Given the description of an element on the screen output the (x, y) to click on. 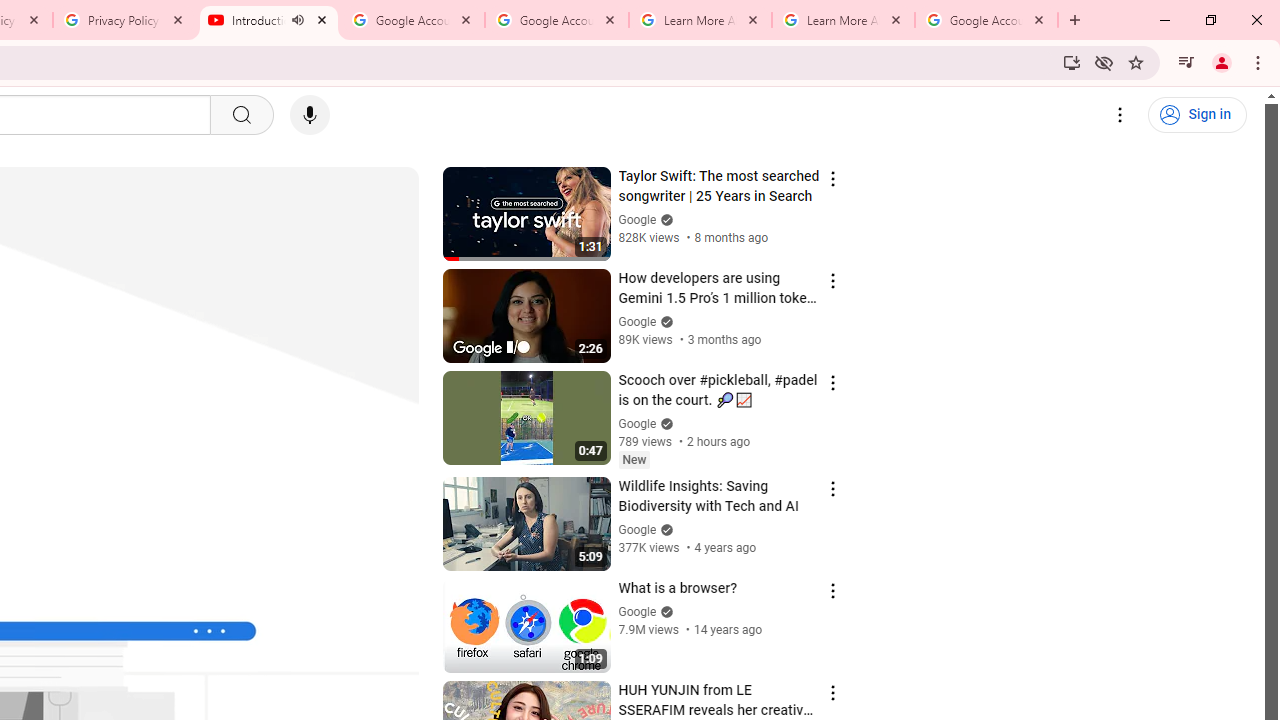
New (634, 459)
Install YouTube (1071, 62)
Search with your voice (309, 115)
